Given the description of an element on the screen output the (x, y) to click on. 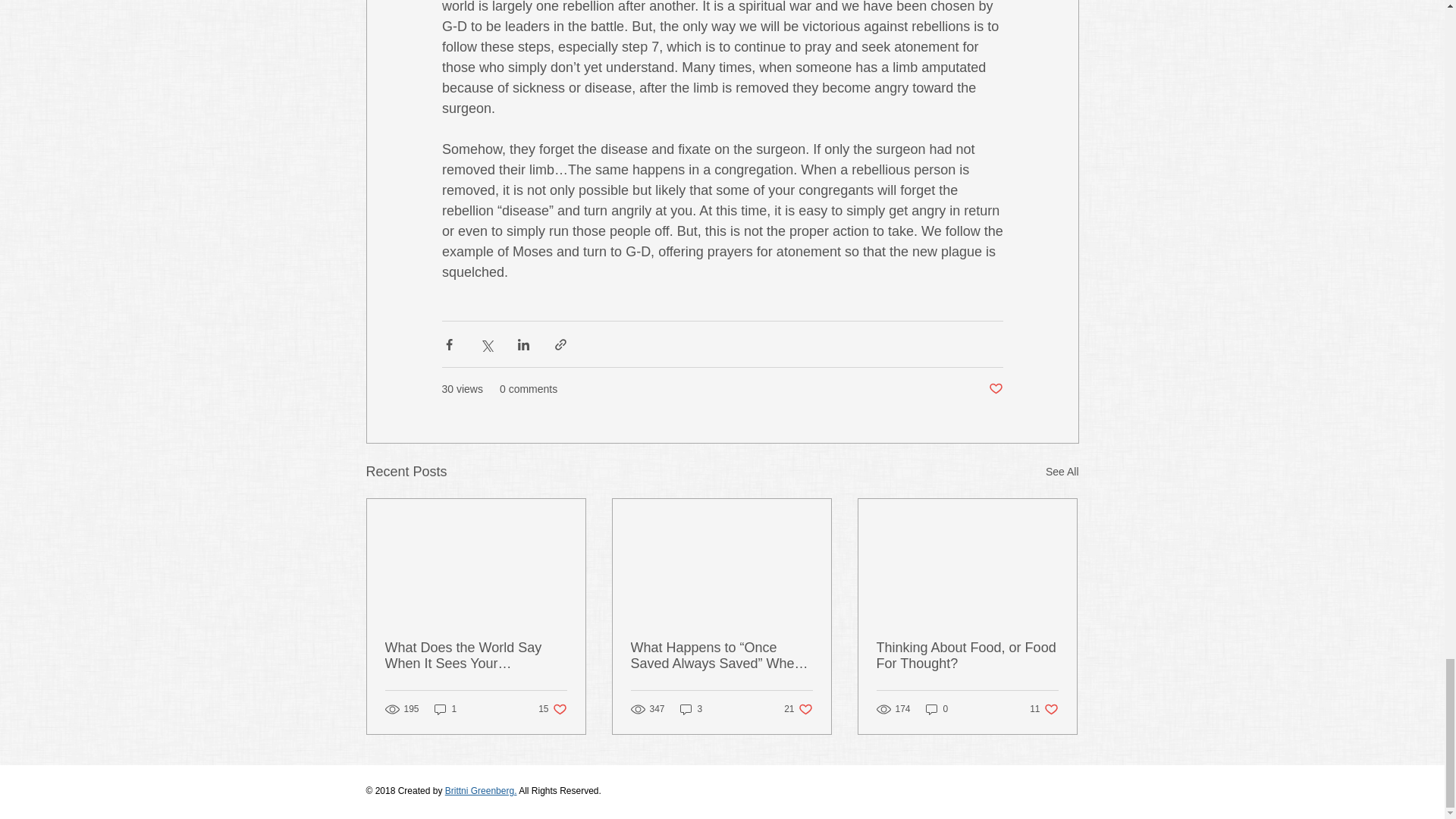
See All (1061, 472)
1 (445, 708)
Post not marked as liked (995, 389)
What Does the World Say When It Sees Your Tabernacle? (552, 708)
3 (476, 655)
